Given the description of an element on the screen output the (x, y) to click on. 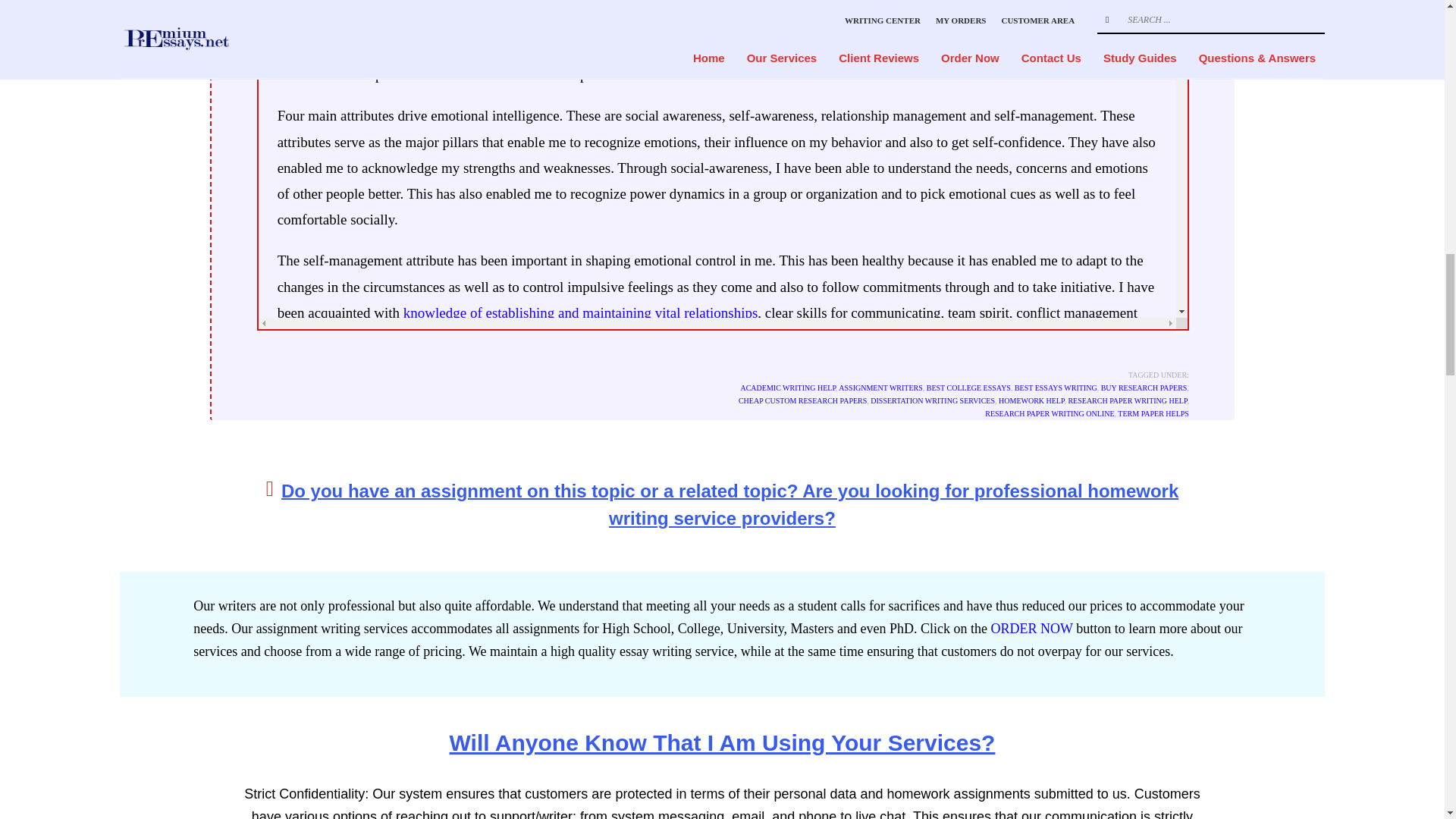
DISSERTATION WRITING SERVICES (932, 400)
ORDER NOW (1030, 628)
HOMEWORK HELP (1031, 400)
RESEARCH PAPER WRITING ONLINE (1049, 413)
TERM PAPER HELPS (1153, 413)
BEST COLLEGE ESSAYS (968, 388)
CHEAP CUSTOM RESEARCH PAPERS (802, 400)
ASSIGNMENT WRITERS (879, 388)
BUY RESEARCH PAPERS (1144, 388)
Due to emotional intelligence (737, 2)
ACADEMIC WRITING HELP (786, 388)
BEST ESSAYS WRITING (1055, 388)
RESEARCH PAPER WRITING HELP (1126, 400)
